Given the description of an element on the screen output the (x, y) to click on. 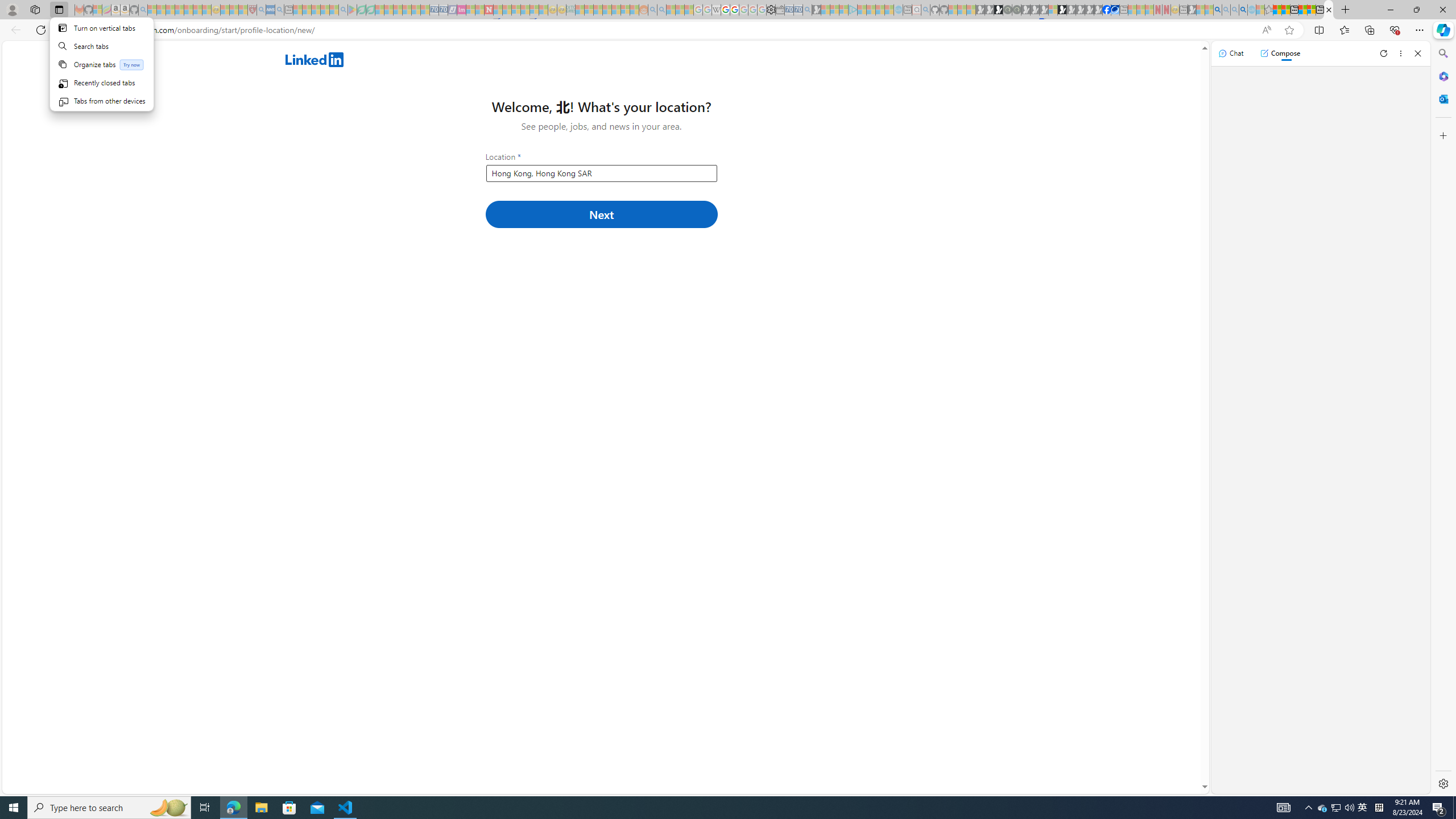
Bing AI - Search (1217, 9)
Pets - MSN - Sleeping (324, 9)
New Report Confirms 2023 Was Record Hot | Watch - Sleeping (188, 9)
Tabs from other devices (100, 100)
